Given the description of an element on the screen output the (x, y) to click on. 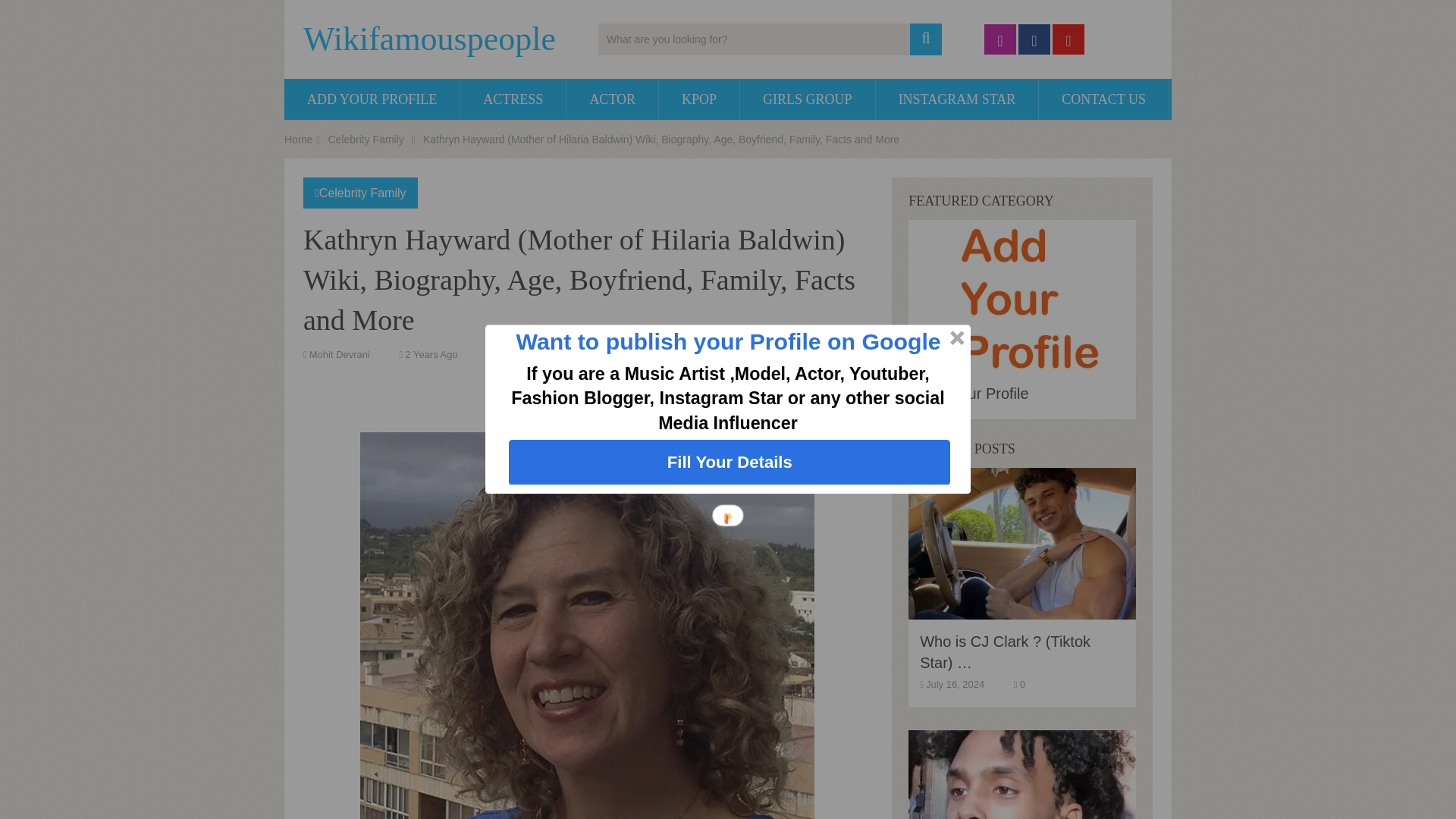
GIRLS GROUP (807, 98)
Home (298, 139)
Celebrity Family (365, 139)
INSTAGRAM STAR (957, 98)
No Comments (524, 354)
Celebrity Family (362, 192)
CONTACT US (1104, 98)
NEXT ARTICLE (813, 393)
Wikifamouspeople (429, 39)
KPOP (699, 98)
ADD YOUR PROFILE (371, 98)
Mohit Devrani (338, 354)
View all posts in Celebrity Family (362, 192)
ACTOR (612, 98)
Posts by Mohit Devrani (338, 354)
